Given the description of an element on the screen output the (x, y) to click on. 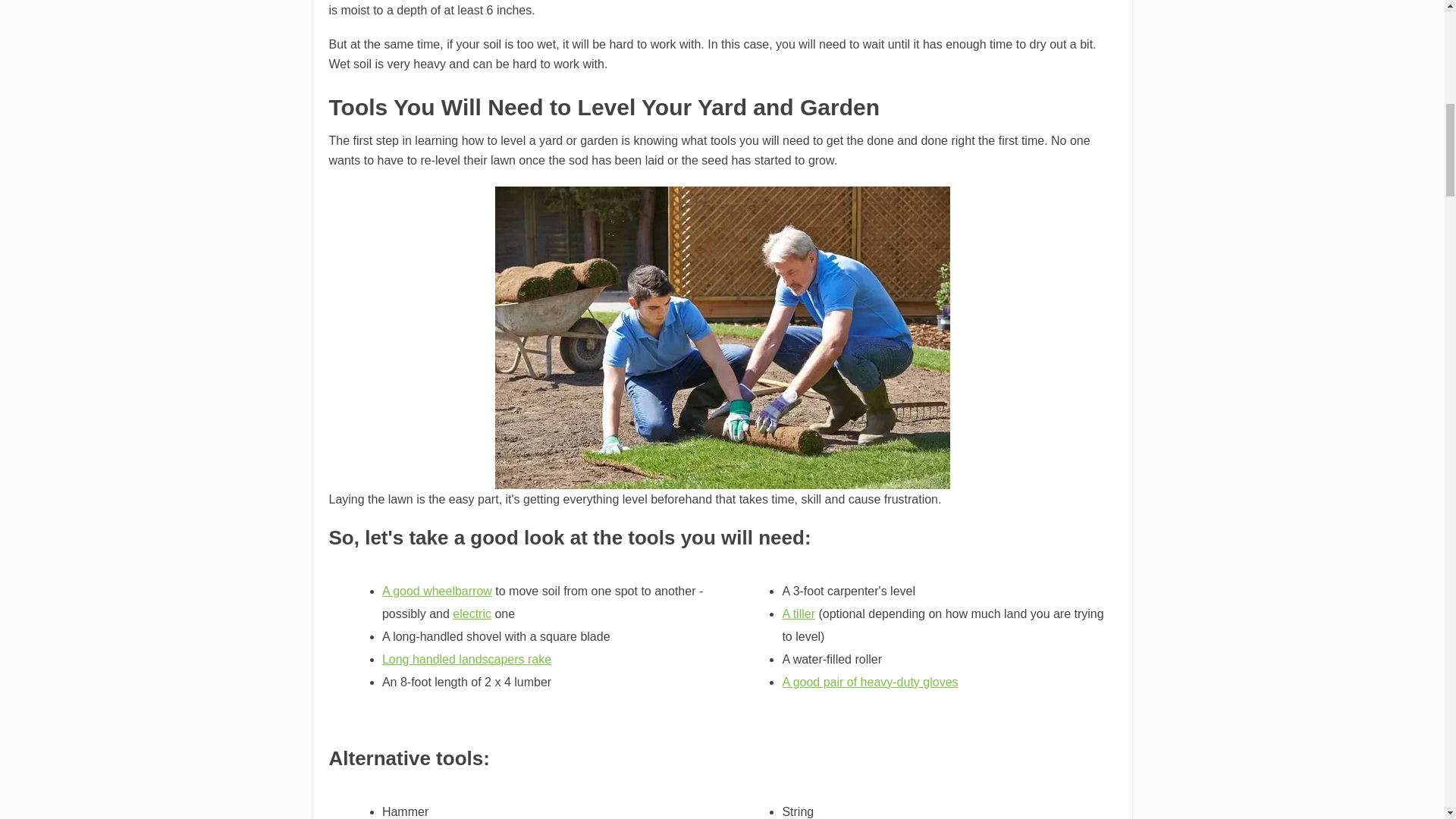
electric (472, 613)
Long handled landscapers rake (466, 658)
A tiller (798, 613)
A good wheelbarrow (436, 590)
A good pair of heavy-duty gloves (869, 681)
